Given the description of an element on the screen output the (x, y) to click on. 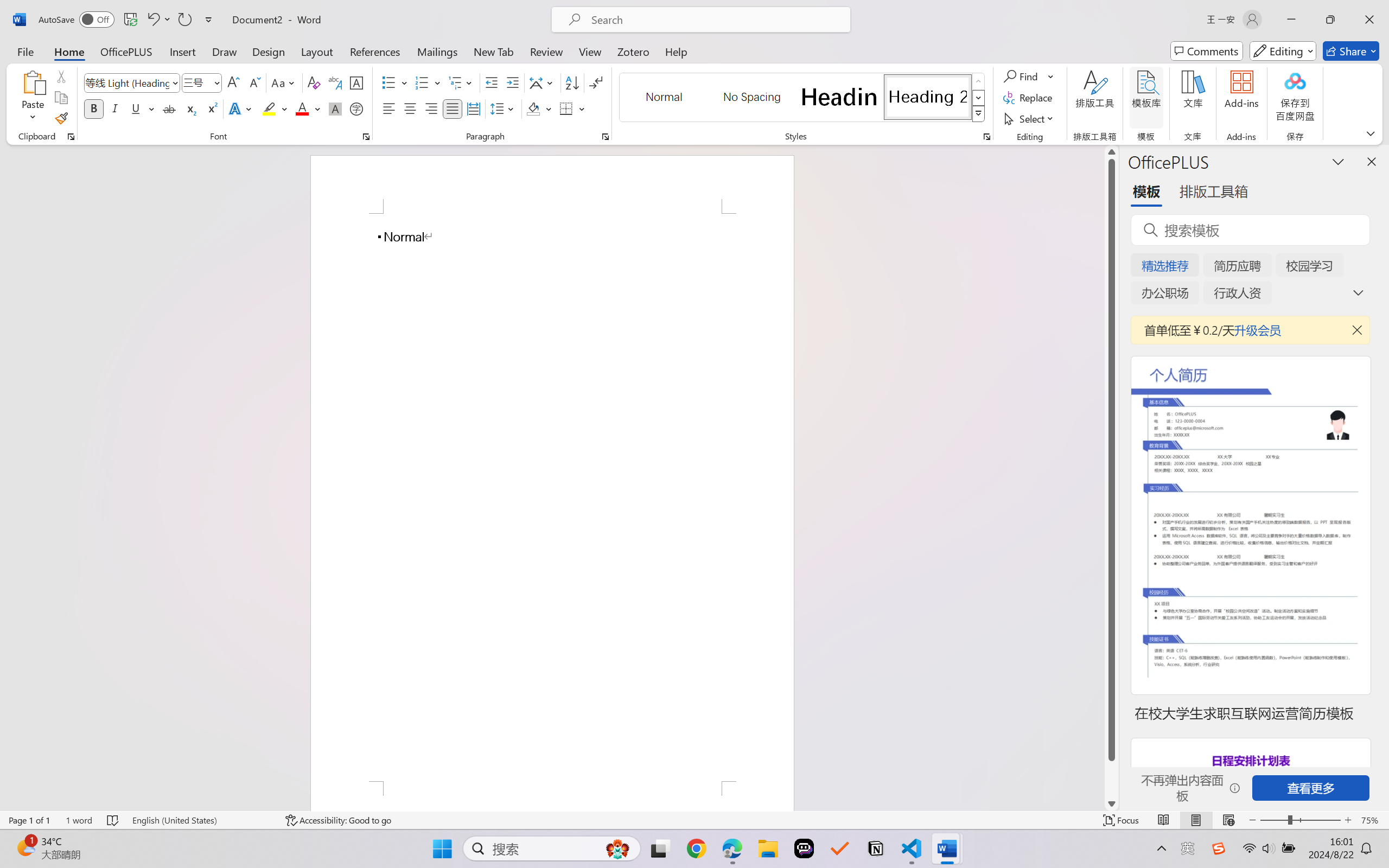
Text Effects and Typography (241, 108)
Font Size (196, 82)
View (589, 51)
File Tab (24, 51)
Line up (1111, 151)
Ribbon Display Options (1370, 132)
Web Layout (1228, 819)
Class: MsoCommandBar (694, 819)
Save (130, 19)
Close (1369, 19)
Open (215, 82)
